Given the description of an element on the screen output the (x, y) to click on. 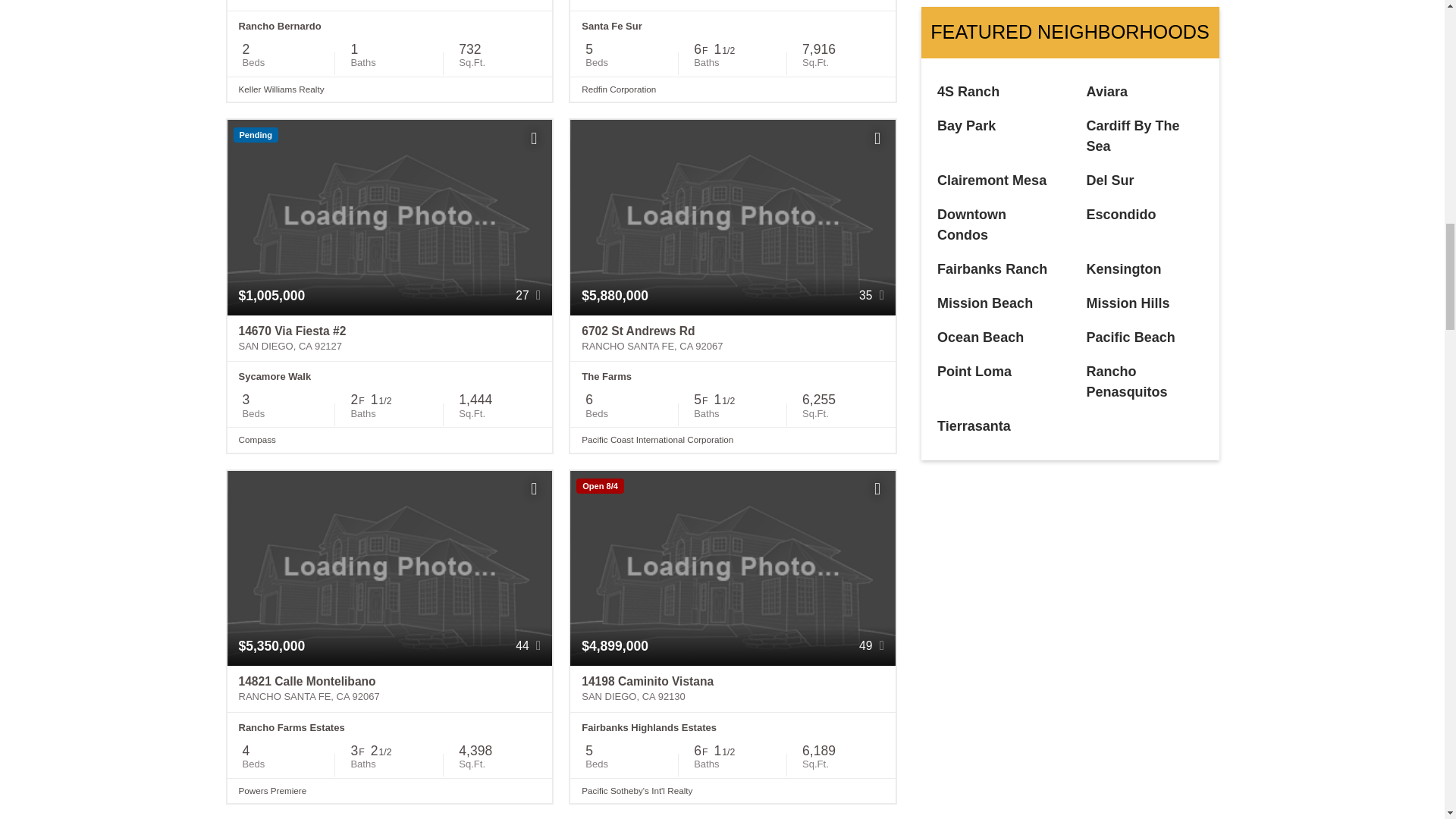
6841 Poco Lago Rancho Santa Fe,  CA 92067 (732, 5)
